Given the description of an element on the screen output the (x, y) to click on. 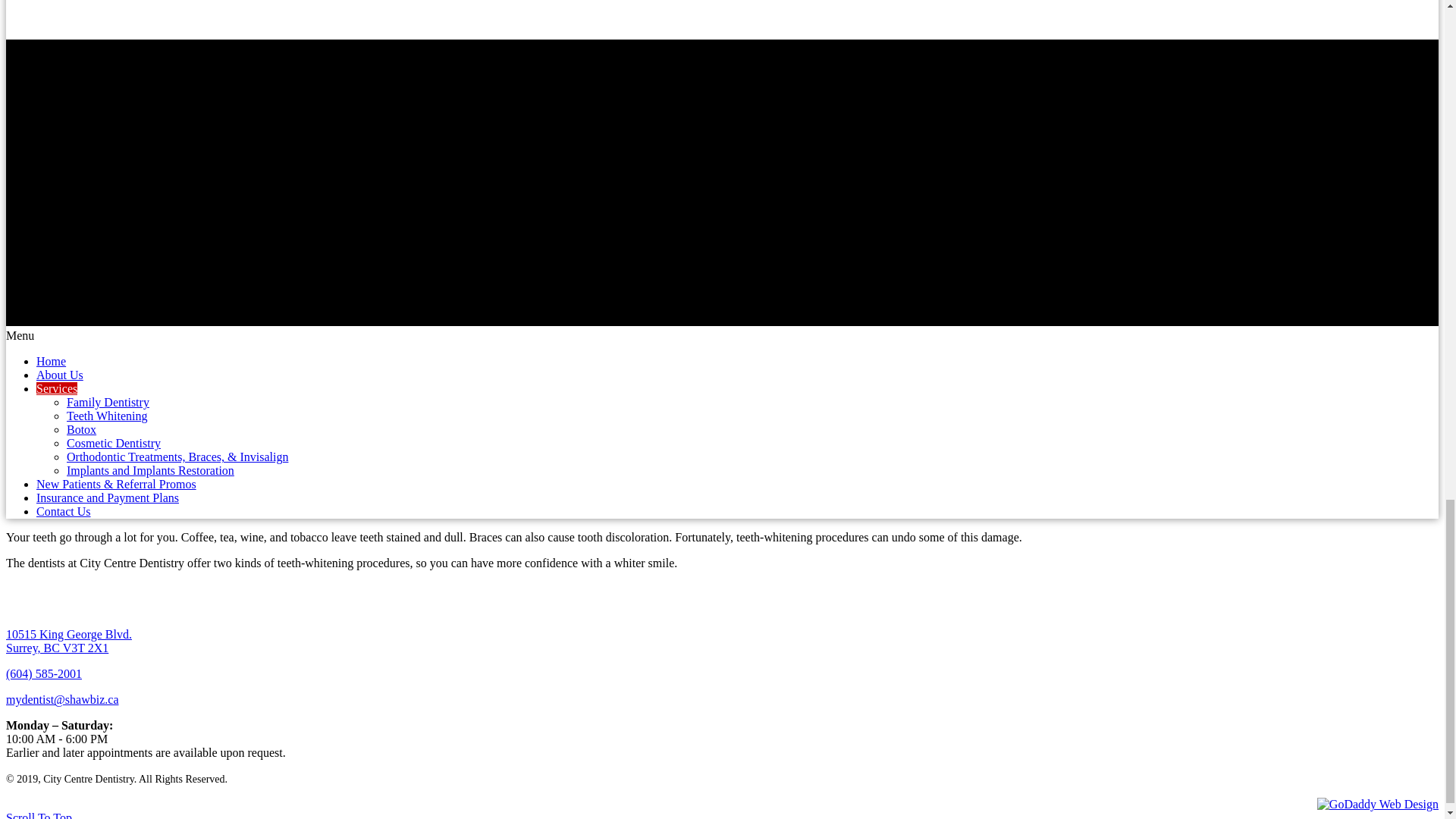
Services (56, 388)
About Us (59, 374)
Insurance and Payment Plans (107, 497)
Home (68, 641)
Family Dentistry (50, 360)
Teeth Whitening (107, 401)
Contact Us (107, 415)
Implants and Implants Restoration (63, 511)
Cosmetic Dentistry (150, 470)
